Given the description of an element on the screen output the (x, y) to click on. 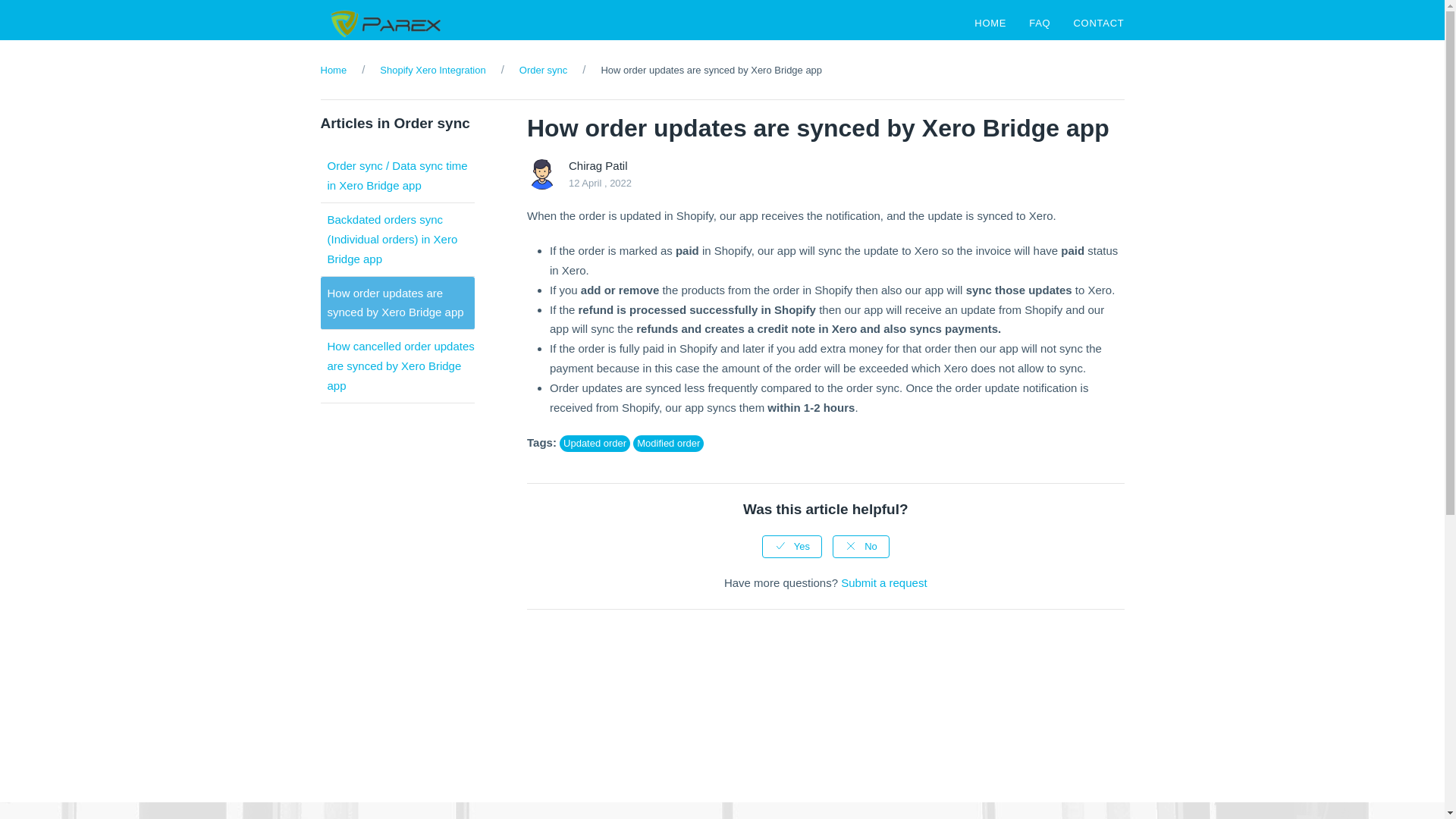
Submit a request (883, 582)
How order updates are synced by Xero Bridge app (395, 302)
Shopify Xero Integration (432, 70)
No (860, 546)
Yes (791, 546)
CONTACT (1098, 27)
HOME (989, 27)
Home (333, 70)
Order sync (543, 70)
How cancelled order updates are synced by Xero Bridge app (400, 365)
